Given the description of an element on the screen output the (x, y) to click on. 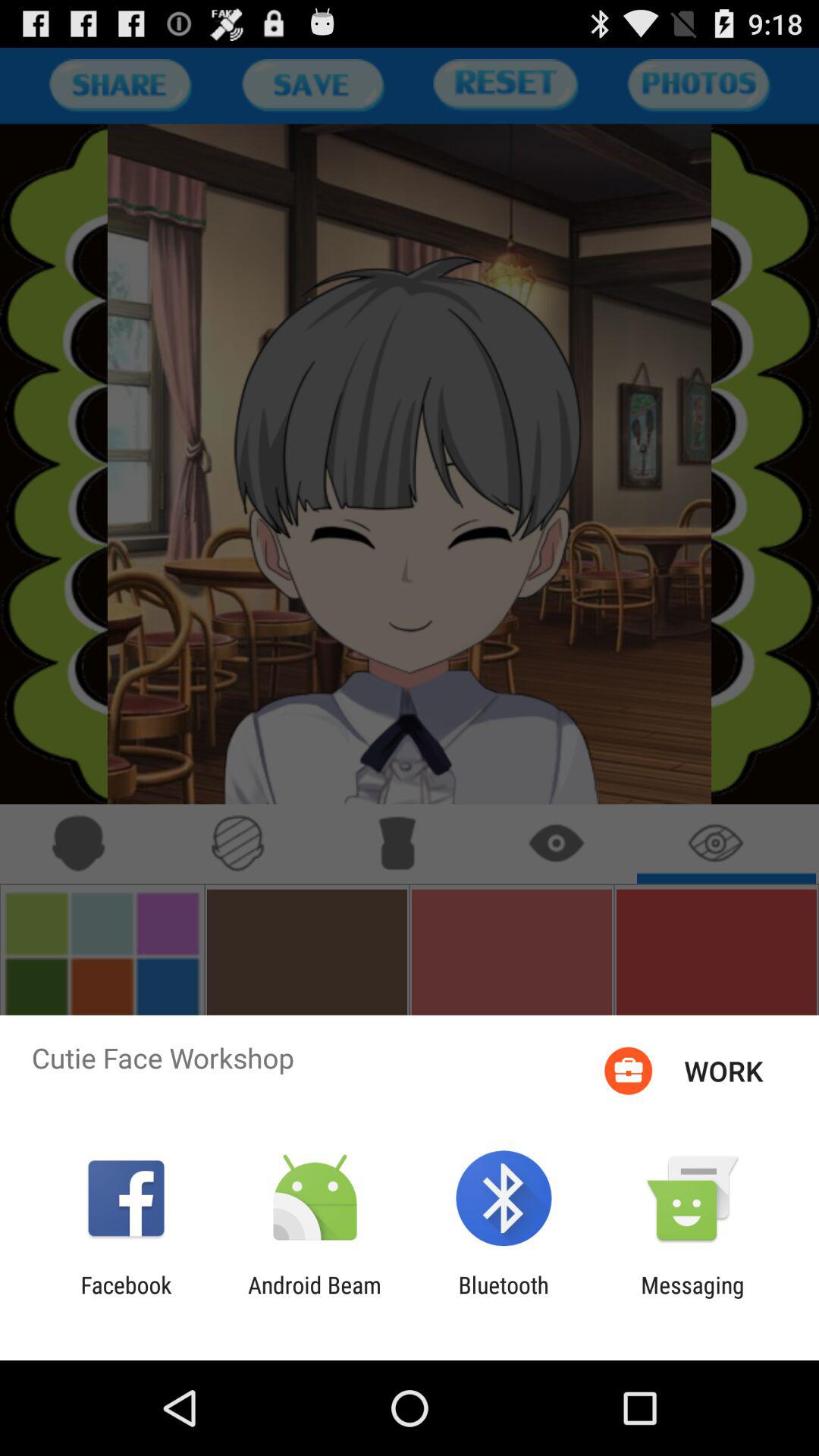
flip to android beam item (314, 1298)
